Given the description of an element on the screen output the (x, y) to click on. 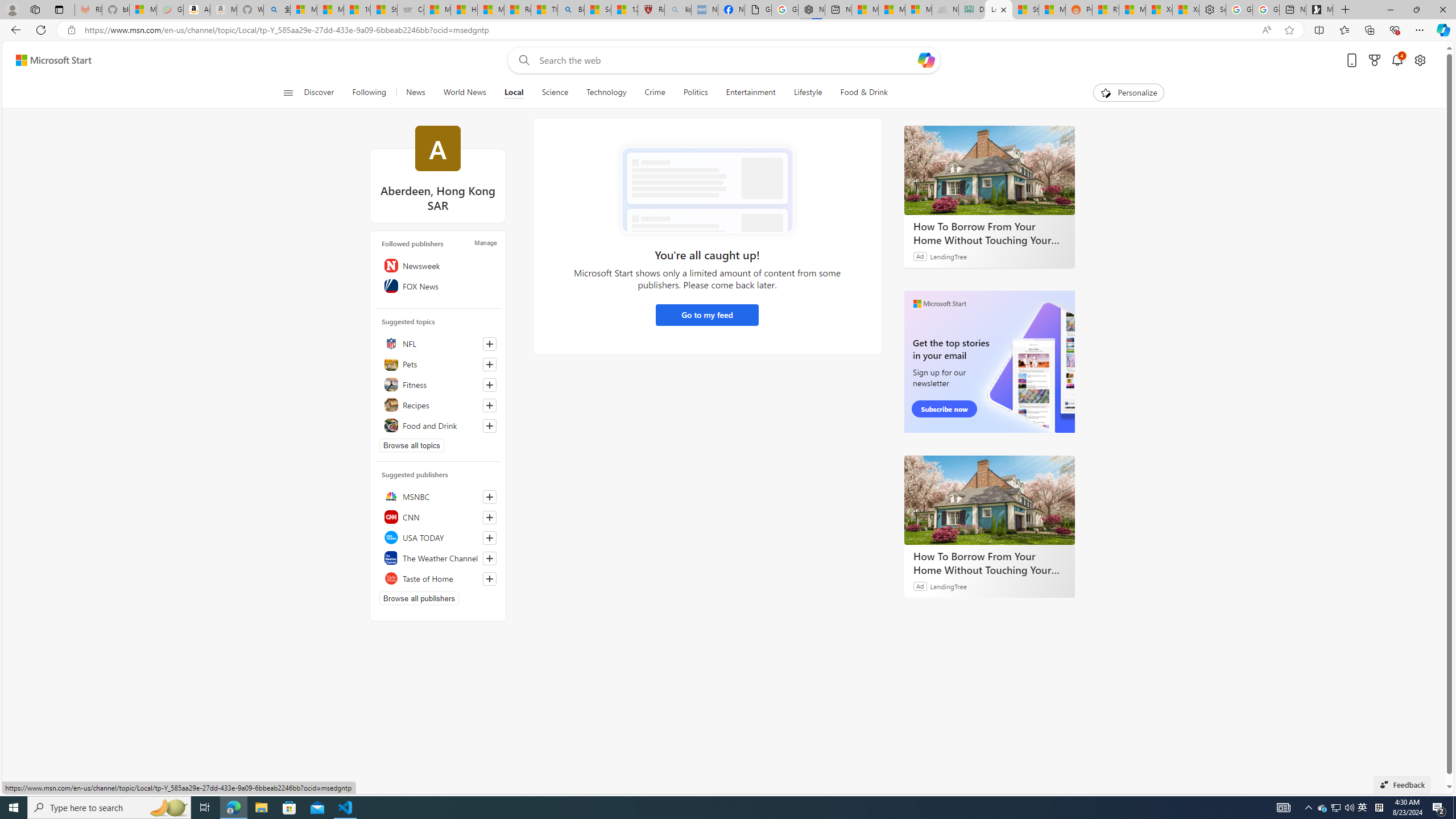
Newsweek (437, 265)
Pets (437, 363)
